Given the description of an element on the screen output the (x, y) to click on. 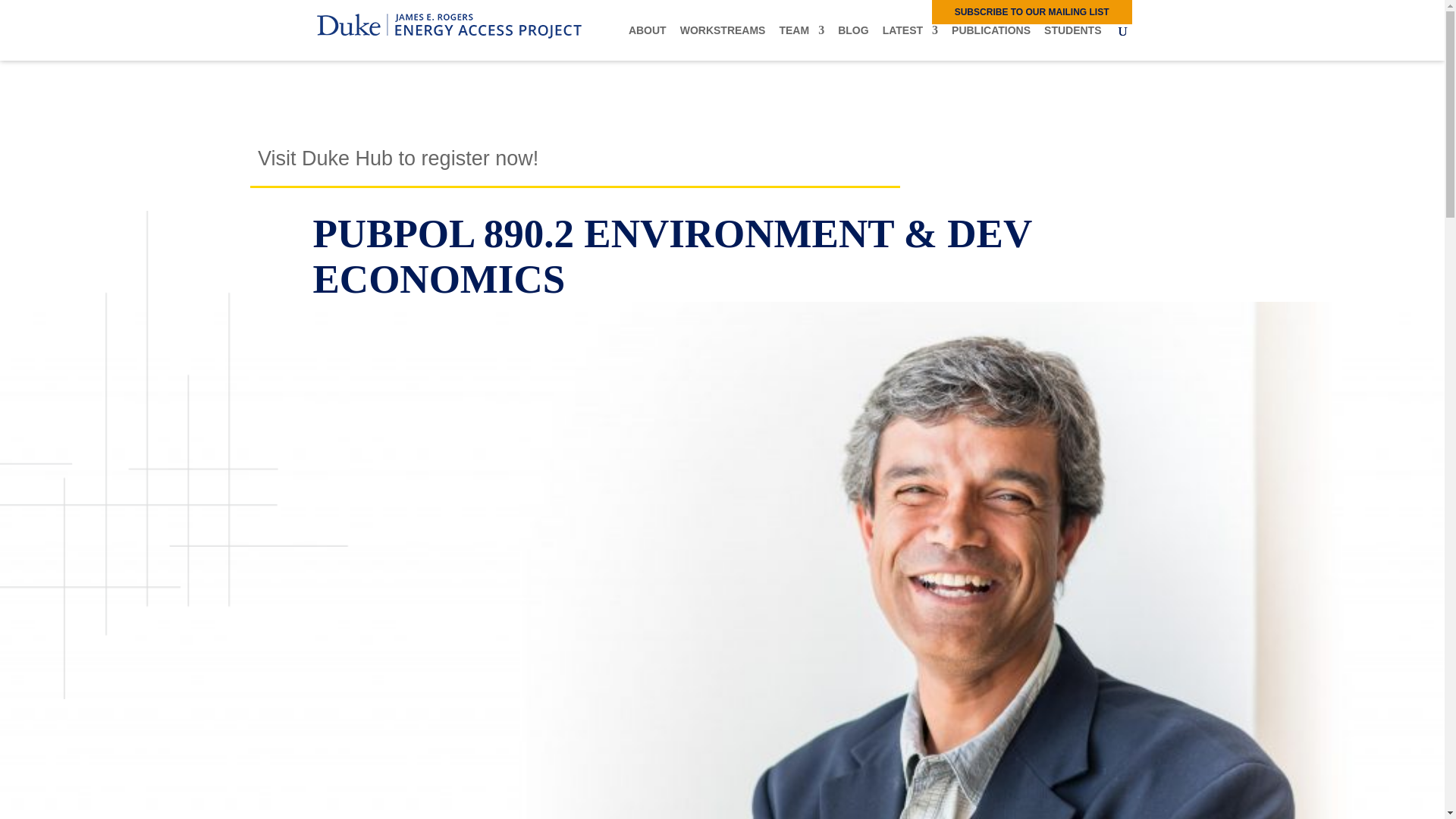
TEAM (801, 42)
LATEST (909, 42)
WORKSTREAMS (722, 42)
STUDENTS (1071, 42)
ABOUT (647, 42)
PUBLICATIONS (991, 42)
